Given the description of an element on the screen output the (x, y) to click on. 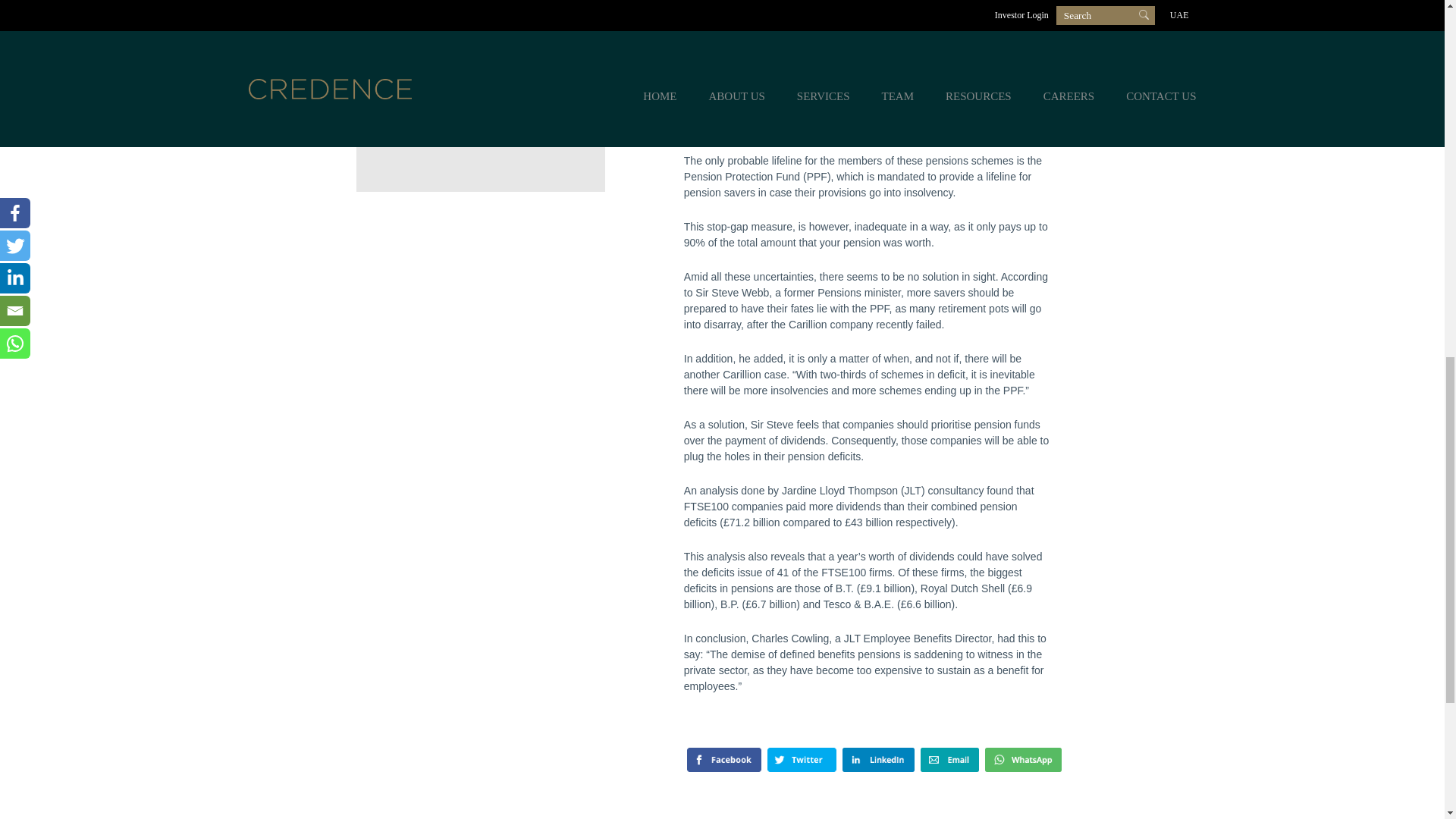
Submit (443, 122)
Submit (443, 122)
WhatsApp (1022, 759)
Email (949, 759)
LinkedIn (878, 759)
Twitter (802, 759)
Facebook (724, 759)
